Given the description of an element on the screen output the (x, y) to click on. 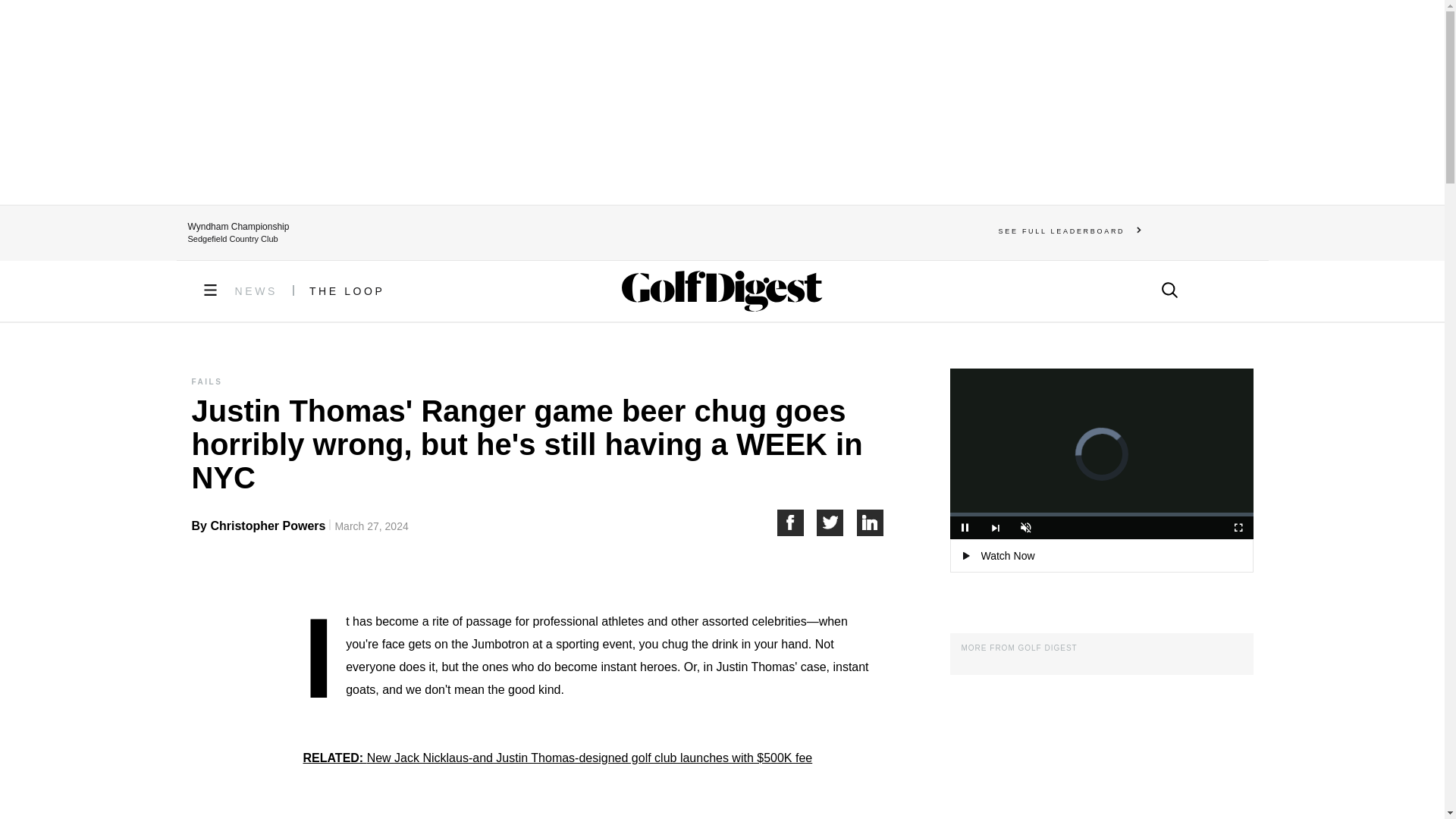
Fullscreen (1237, 527)
NEWS (256, 291)
Pause (964, 527)
Unmute (1025, 527)
THE LOOP (346, 291)
Next playlist item (994, 527)
Share on Facebook (796, 522)
Share on Twitter (836, 522)
Share on LinkedIn (870, 522)
SEE FULL LEADERBOARD (1069, 230)
